Given the description of an element on the screen output the (x, y) to click on. 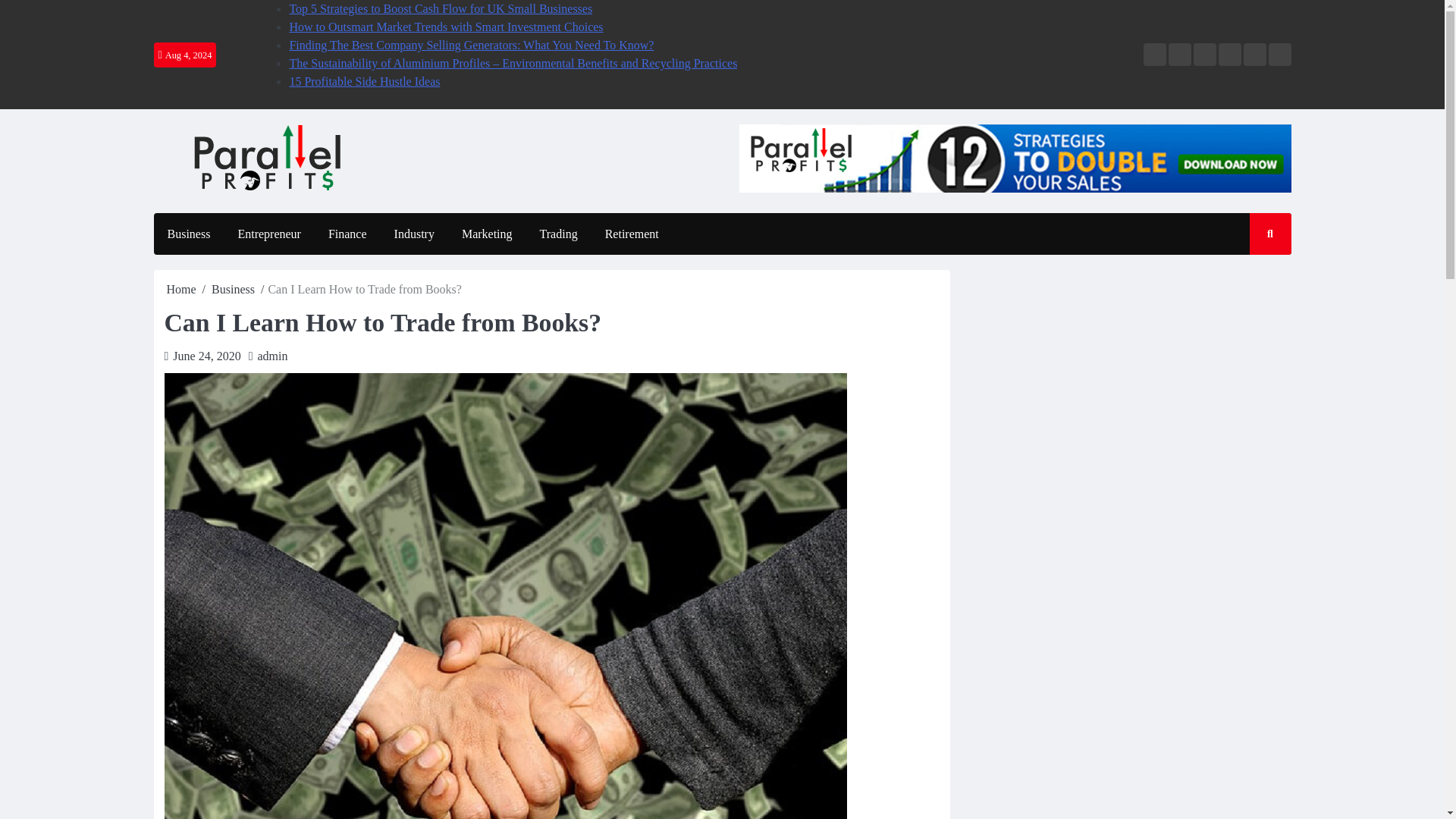
Privacy Policy (1228, 54)
Contact Us (1254, 54)
About Us (1179, 54)
Industry (414, 234)
June 24, 2020 (206, 355)
Sitemap (1279, 54)
Finance (347, 234)
Entrepreneur (269, 234)
15 Profitable Side Hustle Ideas (363, 81)
Retirement (631, 234)
Home (181, 288)
Business (232, 288)
How to Outsmart Market Trends with Smart Investment Choices (445, 26)
Trading (558, 234)
Home (1154, 54)
